Given the description of an element on the screen output the (x, y) to click on. 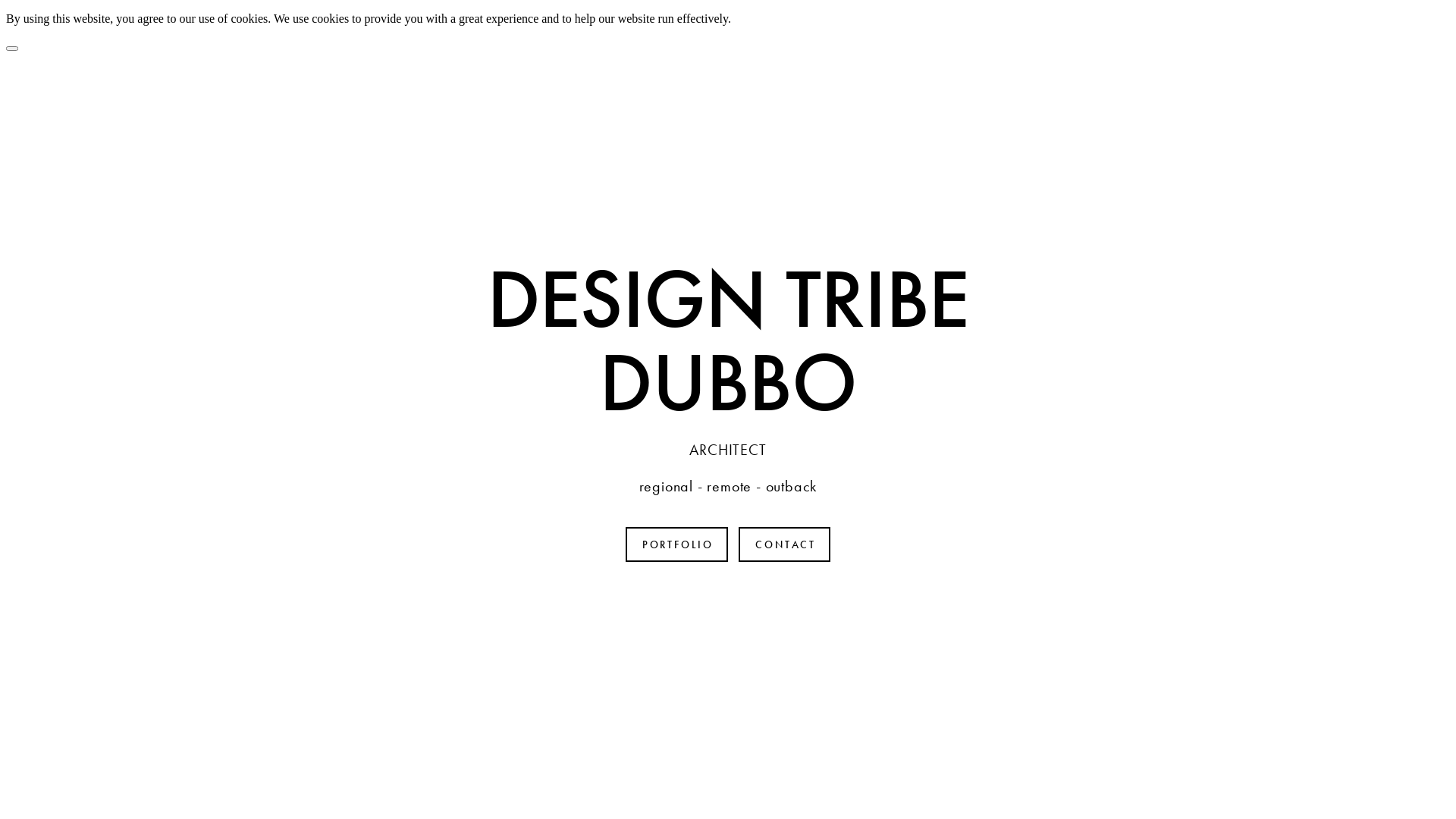
PORTFOLIO Element type: text (676, 544)
CONTACT Element type: text (784, 544)
